Given the description of an element on the screen output the (x, y) to click on. 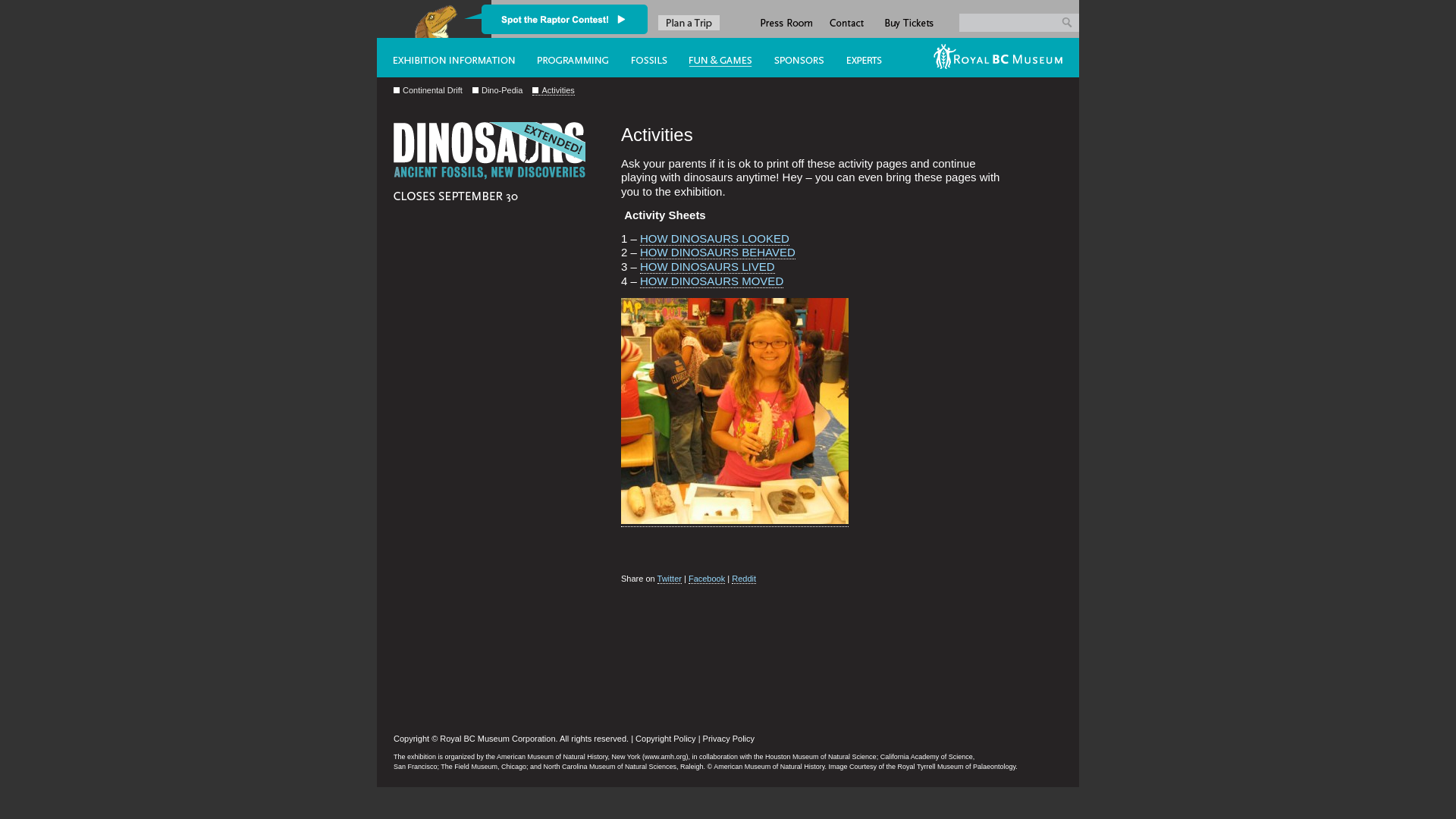
HOW DINOSAURS MOVED Element type: text (711, 281)
Go Element type: text (1070, 21)
Twitter Element type: text (669, 578)
Privacy Policy Element type: text (728, 738)
Facebook Element type: text (706, 578)
EXPERTS Element type: text (875, 57)
Twitter Element type: text (580, 22)
PROGRAMMING Element type: text (567, 57)
HOW DINOSAURS LIVED Element type: text (707, 266)
Flickr Element type: text (615, 22)
Copyright Policy Element type: text (665, 738)
Contact Element type: text (847, 18)
Google+ Element type: text (563, 22)
Dino-Pedia Element type: text (497, 89)
Press Room Element type: text (785, 18)
#5 (NO TITLE) Element type: text (714, 57)
SPONSORS Element type: text (792, 57)
HOW DINOSAURS BEHAVED Element type: text (717, 252)
THE EXHIBITION Element type: text (448, 57)
Continental Drift Element type: text (427, 89)
Plan a Trip Element type: text (688, 22)
HOW DINOSAURS LOOKED Element type: text (714, 238)
activity sheet Element type: hover (734, 411)
Buy Tickets Element type: text (908, 18)
Facebook Element type: text (597, 22)
Activities Element type: text (553, 89)
FOSSILS Element type: text (643, 57)
Reddit Element type: text (743, 578)
RBCM Element type: text (1000, 57)
